Given the description of an element on the screen output the (x, y) to click on. 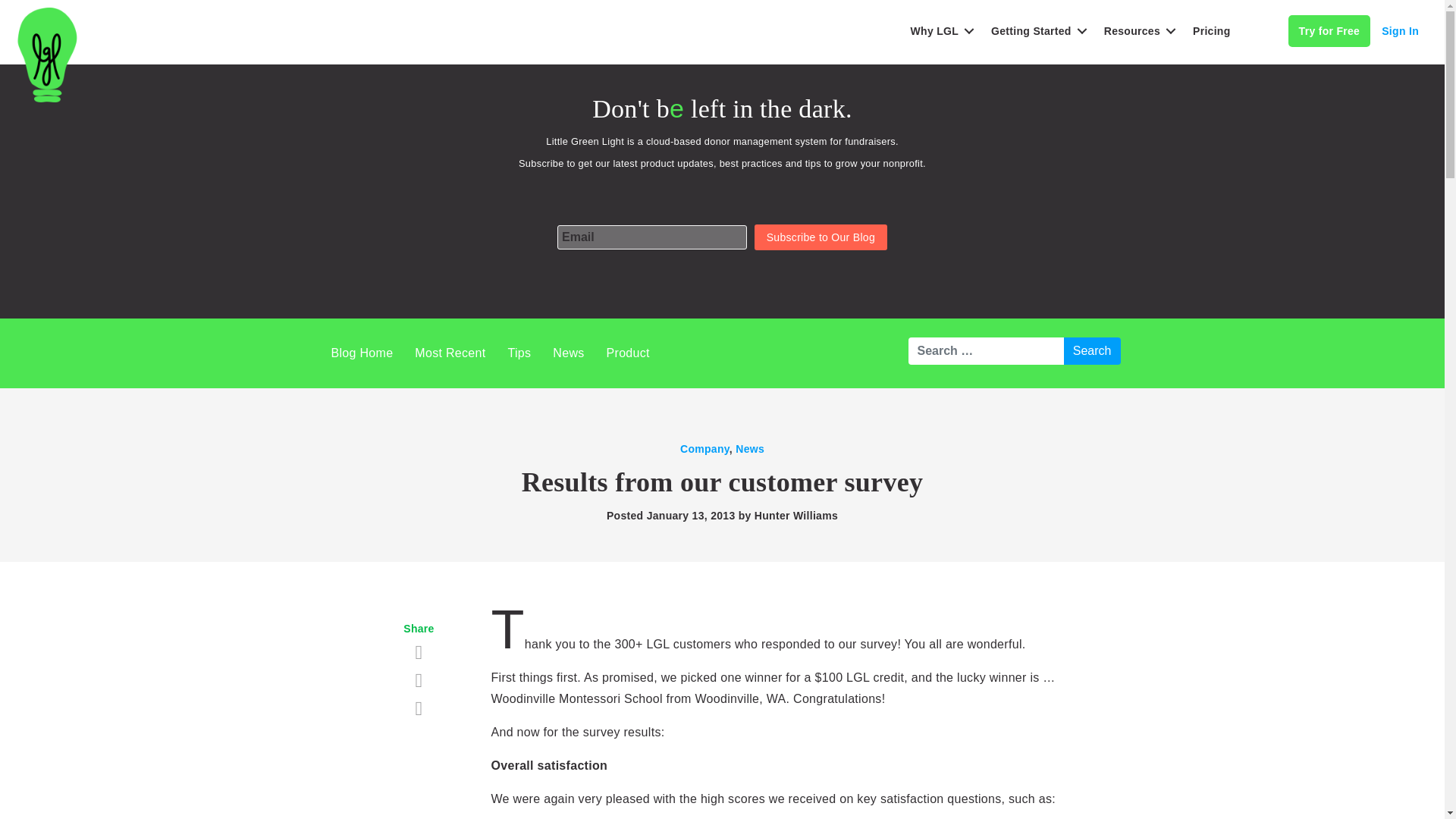
lgl-bulb-square (47, 54)
Pricing (1211, 30)
Search (1092, 350)
Subscribe to Our Blog (820, 237)
News (567, 353)
Company (704, 449)
Blog Home (361, 353)
Tips (518, 353)
Resources (1136, 30)
Try for Free (1329, 30)
